Given the description of an element on the screen output the (x, y) to click on. 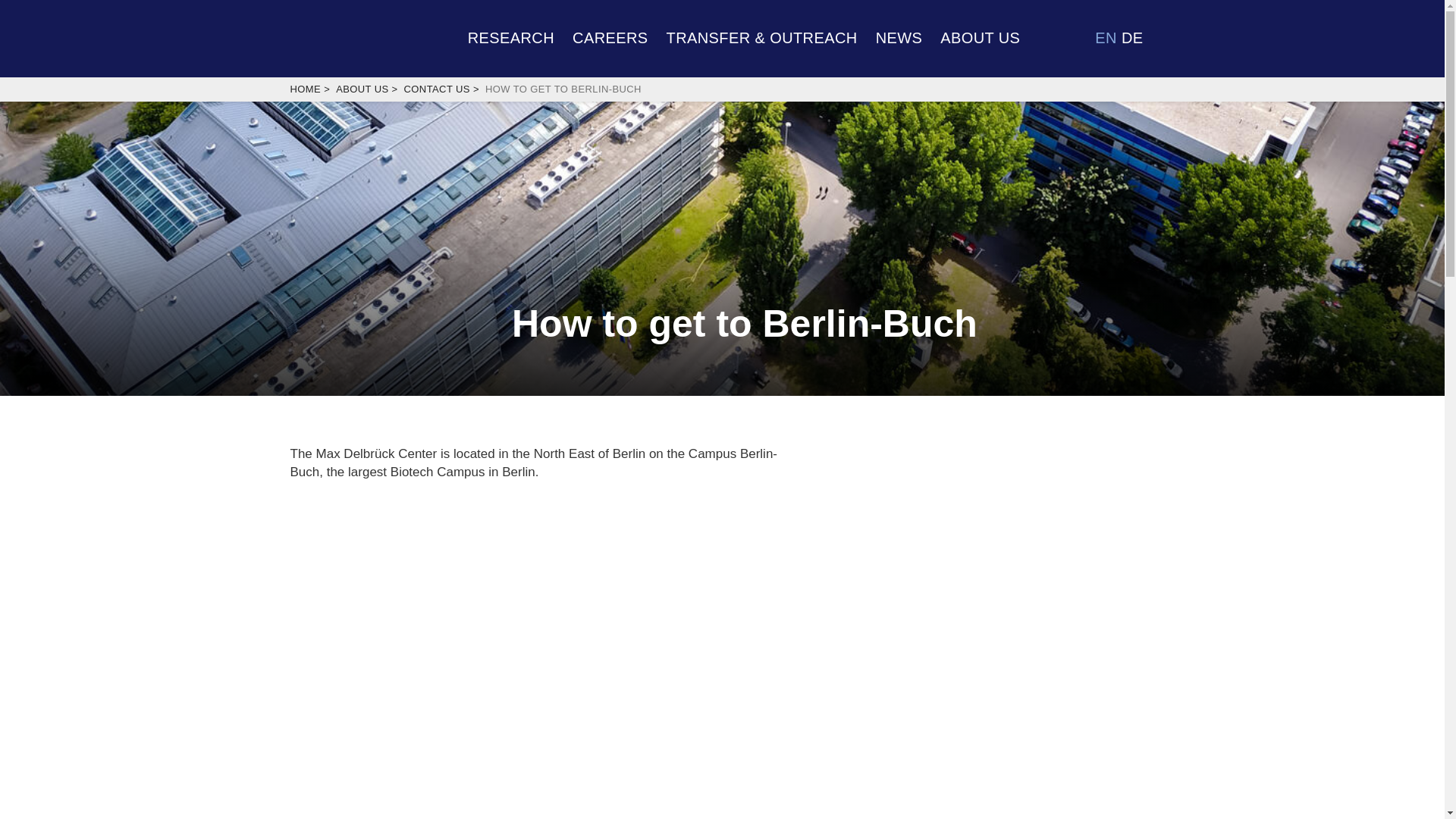
CAREERS (610, 36)
RESEARCH (510, 36)
Deutsch (1131, 37)
English (1105, 37)
